Given the description of an element on the screen output the (x, y) to click on. 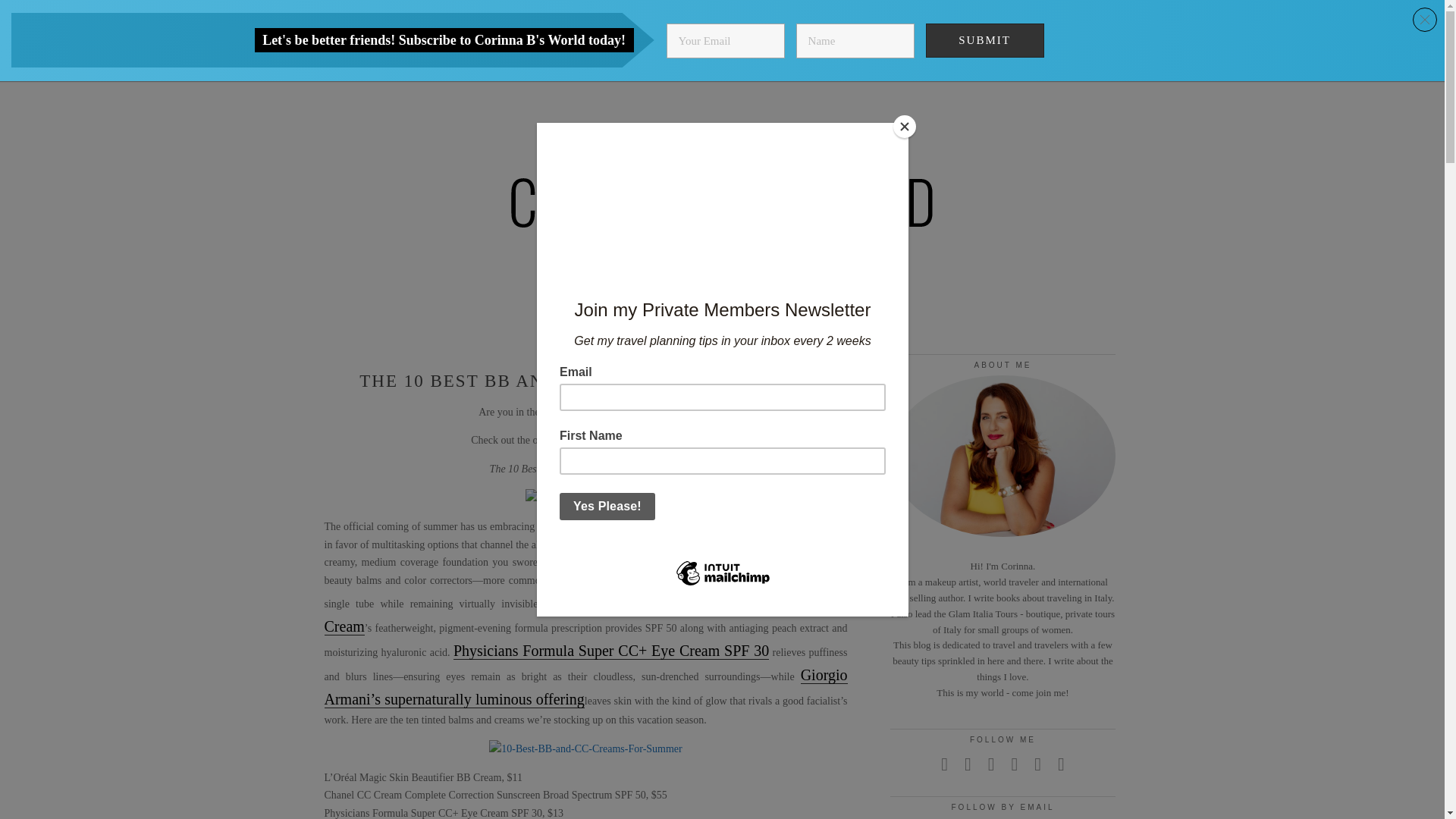
Travel (577, 14)
About Me (826, 14)
Books (651, 14)
Best-BB-and-CC-Creams-For-Summer (585, 749)
Home (504, 14)
Lifestyle (733, 14)
Best-BB-Creams-For-Summer (585, 497)
Chanel CC Cream (585, 614)
Corinna B's World (722, 215)
Vogue.com (608, 439)
Disclosure (924, 14)
